Given the description of an element on the screen output the (x, y) to click on. 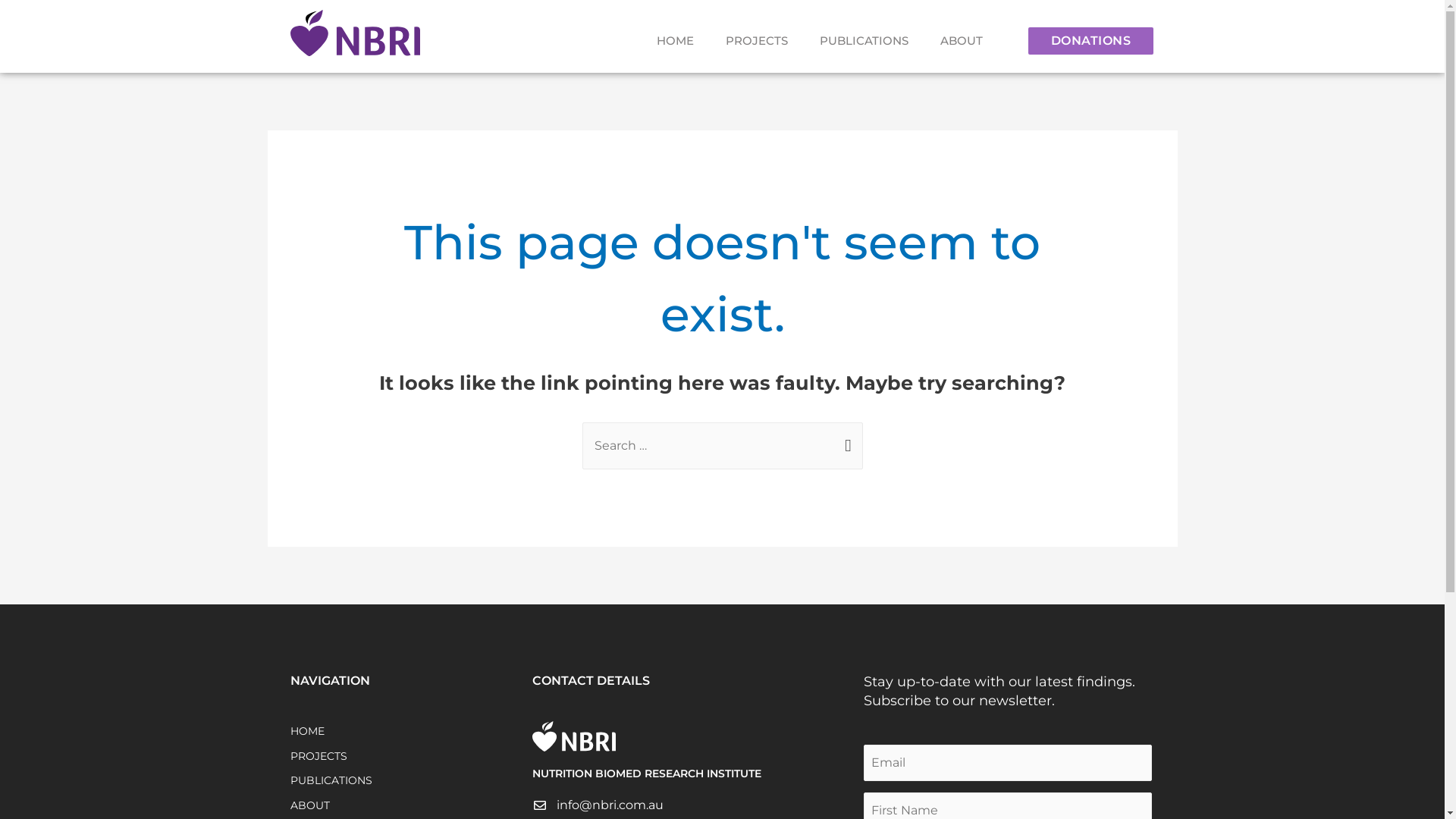
PROJECTS Element type: text (410, 756)
PUBLICATIONS Element type: text (410, 780)
info@nbri.com.au Element type: text (597, 805)
ABOUT Element type: text (410, 805)
HOME Element type: text (410, 731)
Search Element type: text (845, 438)
DONATIONS Element type: text (1091, 40)
HOME Element type: text (675, 40)
PUBLICATIONS Element type: text (863, 40)
PROJECTS Element type: text (756, 40)
ABOUT Element type: text (961, 40)
